Given the description of an element on the screen output the (x, y) to click on. 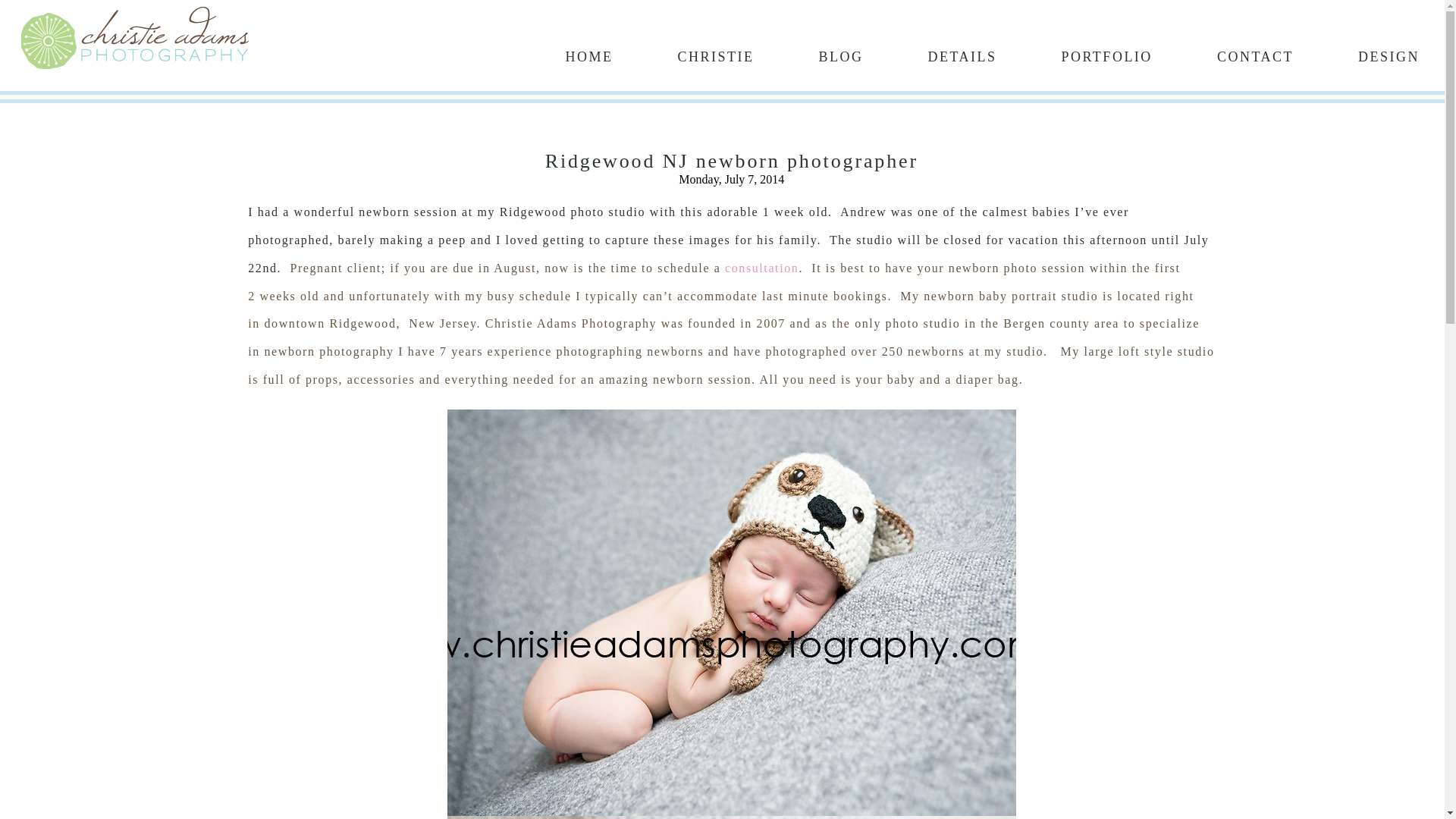
design (1388, 55)
details (961, 55)
portfolio (1106, 55)
home (588, 55)
consultation (761, 267)
blog (840, 55)
contact (1255, 55)
christie (715, 55)
